Given the description of an element on the screen output the (x, y) to click on. 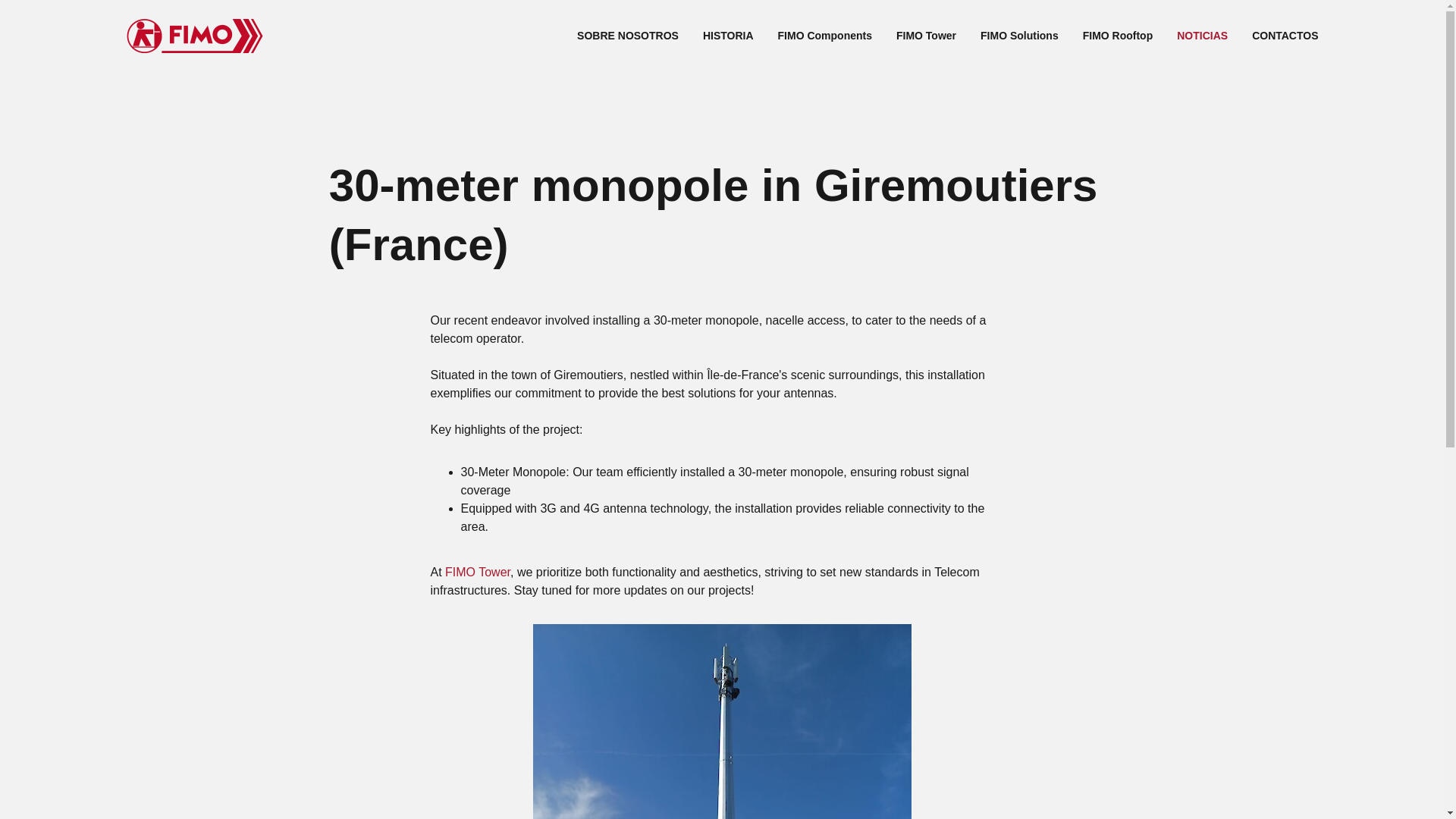
FIMO Tower (478, 571)
SOBRE NOSOTROS (627, 35)
FIMO Tower (926, 35)
HISTORIA (728, 35)
CONTACTOS (1284, 35)
FIMO Components (824, 35)
NOTICIAS (1201, 35)
FIMO Solutions (1018, 35)
FIMO Rooftop (1118, 35)
